Given the description of an element on the screen output the (x, y) to click on. 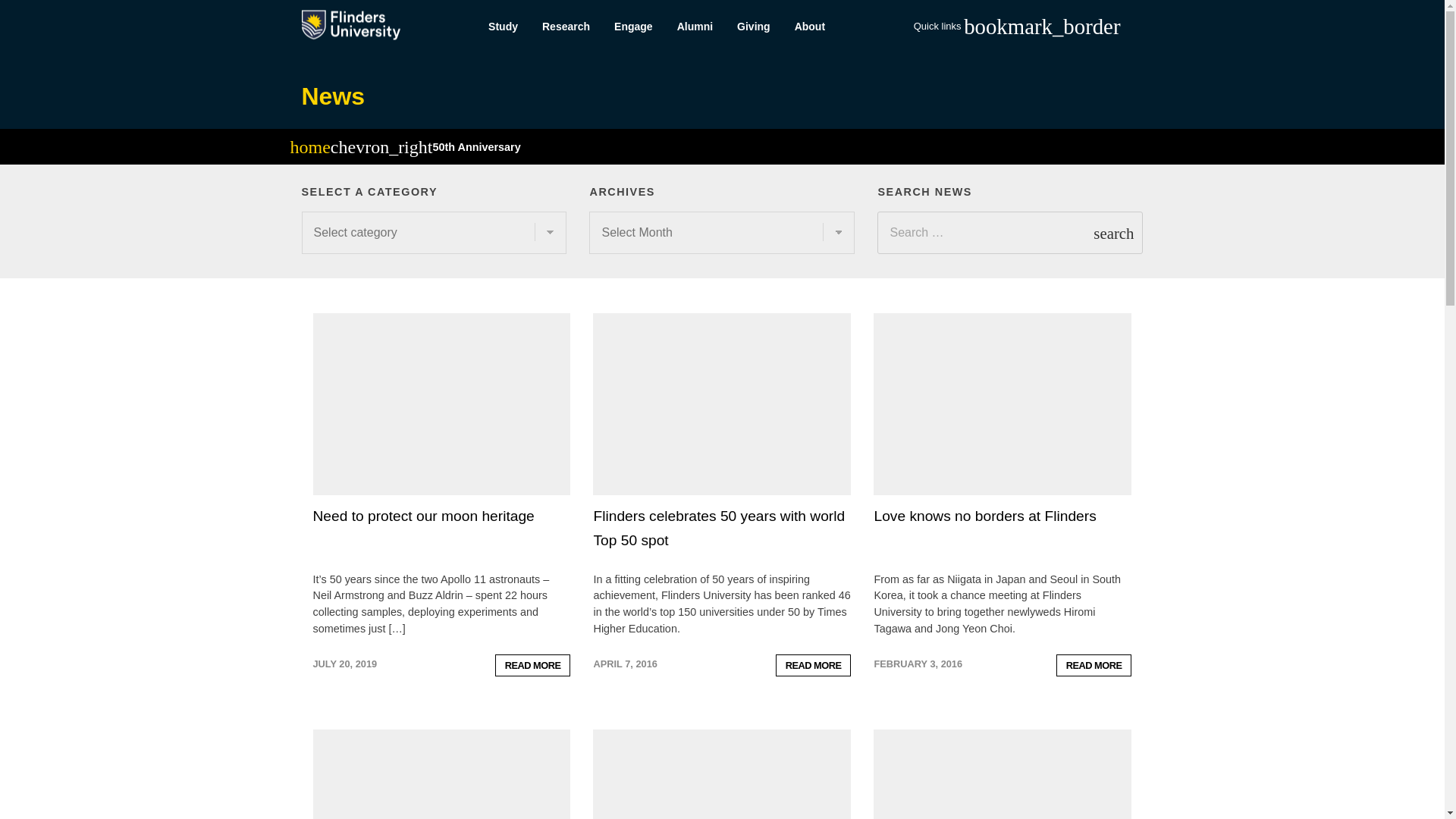
Alumni (695, 26)
Giving (754, 26)
Engage (633, 26)
About (810, 26)
News (333, 95)
search (1113, 232)
home (309, 149)
READ MORE (1094, 665)
Flinders celebrates 50 years with world Top 50 spot (718, 527)
Study (502, 26)
